Given the description of an element on the screen output the (x, y) to click on. 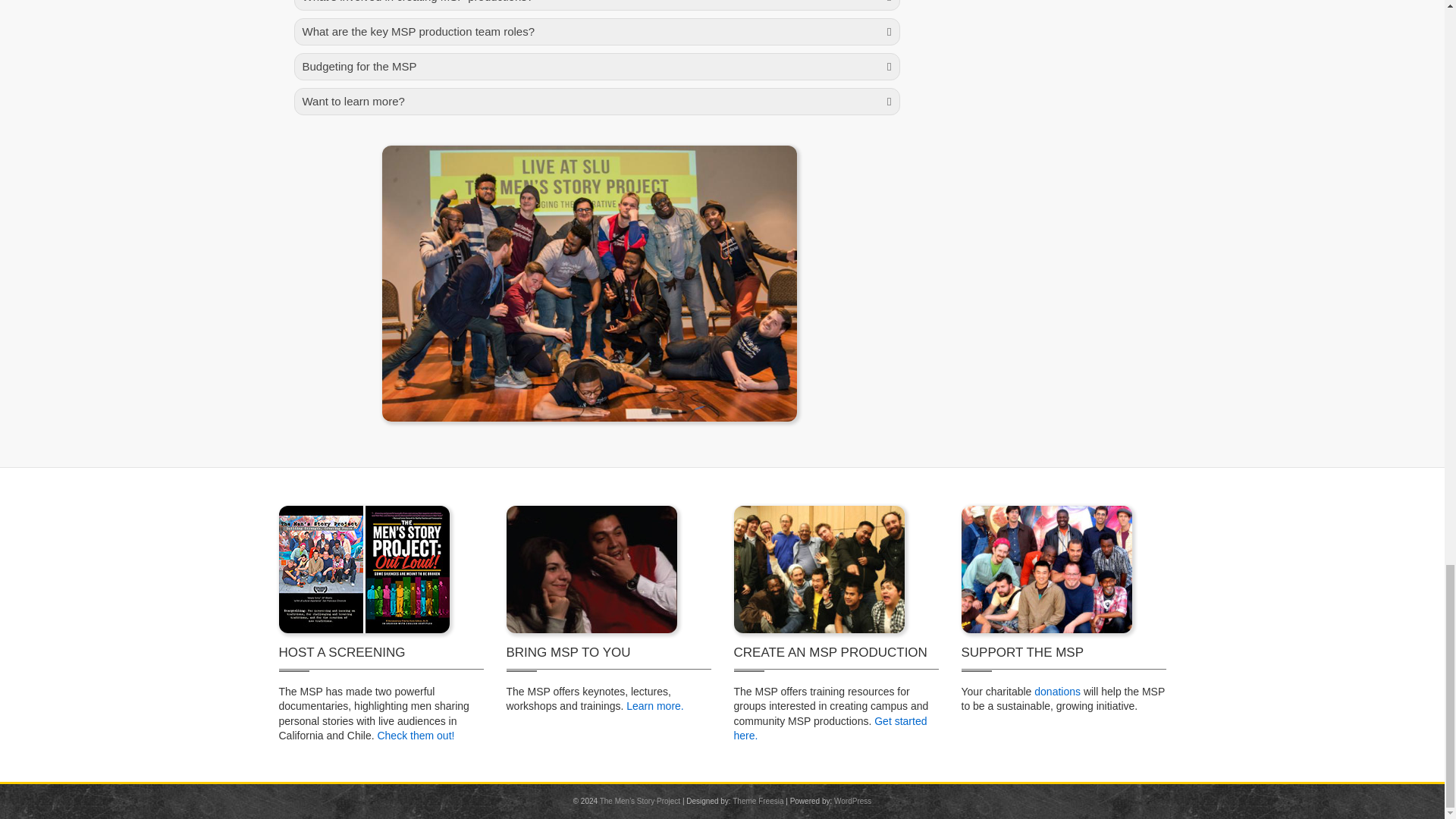
Theme Freesia (757, 800)
WordPress (852, 800)
The Men's Story Project (639, 800)
